Given the description of an element on the screen output the (x, y) to click on. 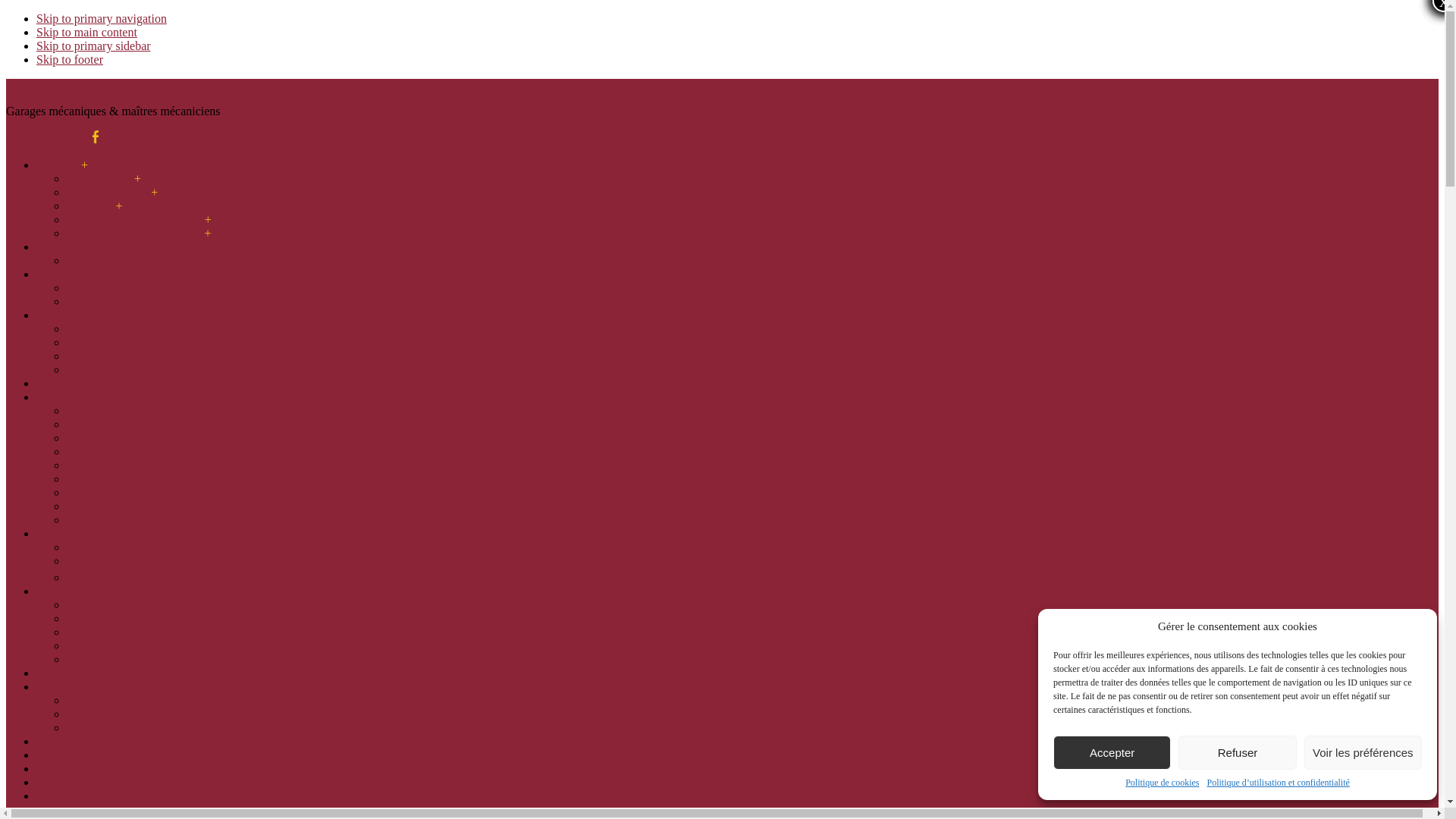
Accepter Element type: text (1111, 752)
> Q & R Element type: text (87, 355)
> Suspension Element type: text (98, 437)
> Batteries Element type: text (92, 287)
> Service Virtual VehicleMD Element type: text (135, 577)
Entretien Element type: text (58, 686)
> Garantie nationale 36/60 Element type: text (131, 604)
> Freins Element type: text (86, 423)
Devenez membre AUTOPLACE Element type: text (115, 795)
> Programme du manufacturier Element type: text (142, 727)
Conseils Element type: text (57, 740)
> Pneus Element type: text (85, 464)
Forfaits saisonniers Element type: text (83, 672)
Concours Element type: text (59, 246)
Skip to primary navigation Element type: text (101, 18)
Expertise Element type: text (58, 533)
> Nouvelles technologies Element type: text (128, 546)
SUIVEZ-NOUS  Element type: text (52, 138)
Vos droits Element type: text (60, 314)
> Moteur Element type: text (89, 410)
> Diagnostic en ligne Element type: text (118, 560)
Skip to primary sidebar Element type: text (93, 45)
Skip to main content Element type: text (86, 31)
> Freiner le cancer du sein Element type: text (130, 300)
Garanties et avantages Element type: text (90, 590)
> Nos ateliers Element type: text (103, 178)
> Programme AutoPLACE Element type: text (131, 713)
> Mission Element type: text (94, 205)
> Chauffage et climatisation Element type: text (135, 492)
Prenez un rendez-vous Element type: text (91, 754)
Skip to footer Element type: text (69, 59)
AutoPLACE Element type: text (37, 84)
Refuser Element type: text (1236, 752)
Politique de cookies Element type: text (1161, 782)
Promotion Element type: text (61, 273)
Services AutoPLACE Element type: text (89, 382)
> Protection des pneus Element type: text (121, 631)
